Given the description of an element on the screen output the (x, y) to click on. 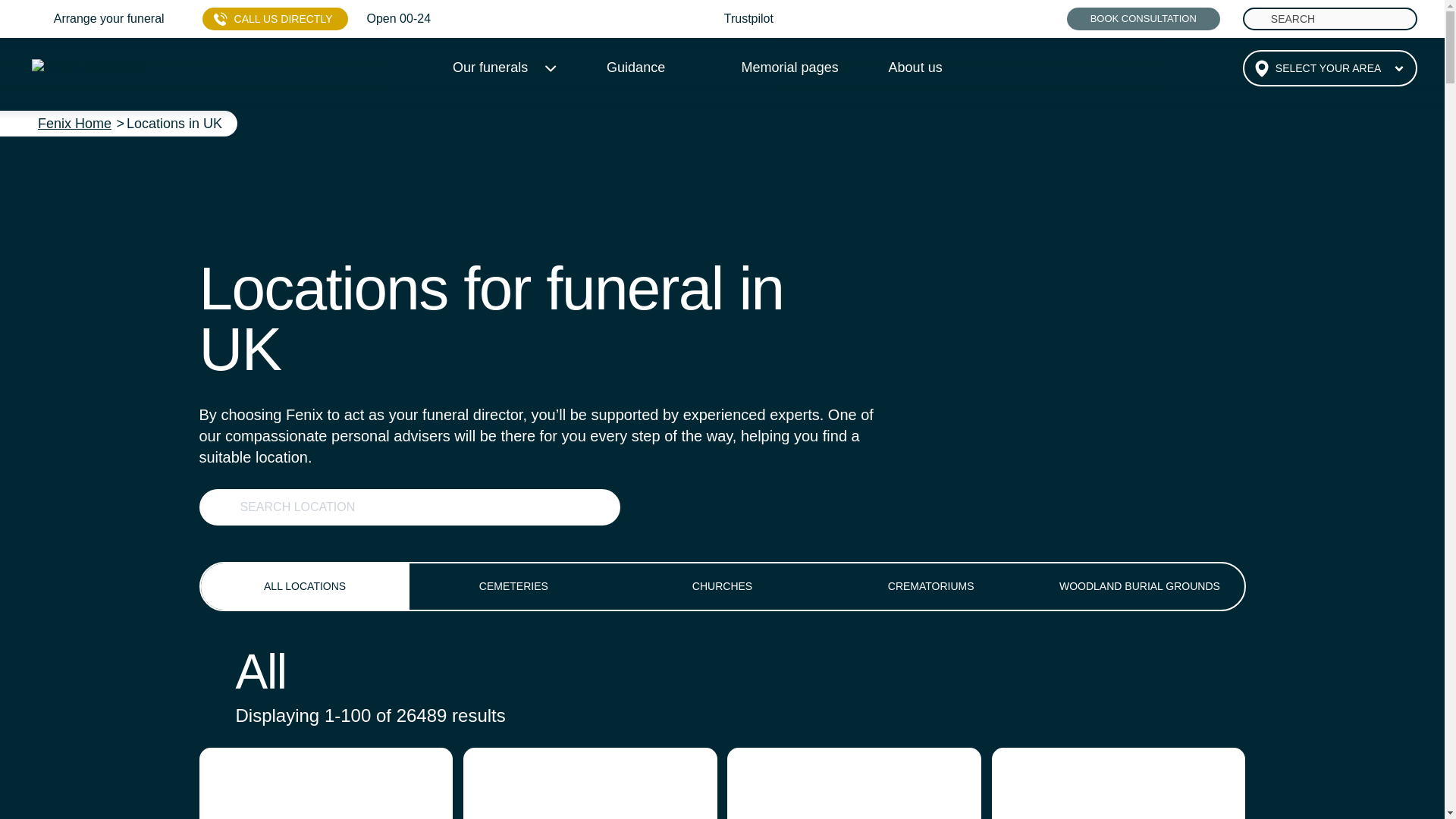
218 Tollgate Rd (1118, 783)
Memorial pages (789, 67)
About us (914, 67)
BOOK CONSULTATION (1143, 18)
Trustpilot (748, 18)
All locations (304, 586)
CALL US DIRECTLY (274, 18)
Fenix Home (74, 123)
Our funerals (496, 67)
163 Balaam St (590, 783)
Locations in UK (174, 123)
138 Christchurch Rd (325, 783)
Cemeteries (513, 586)
Crematoriums (931, 586)
ALL LOCATIONS (304, 586)
